Given the description of an element on the screen output the (x, y) to click on. 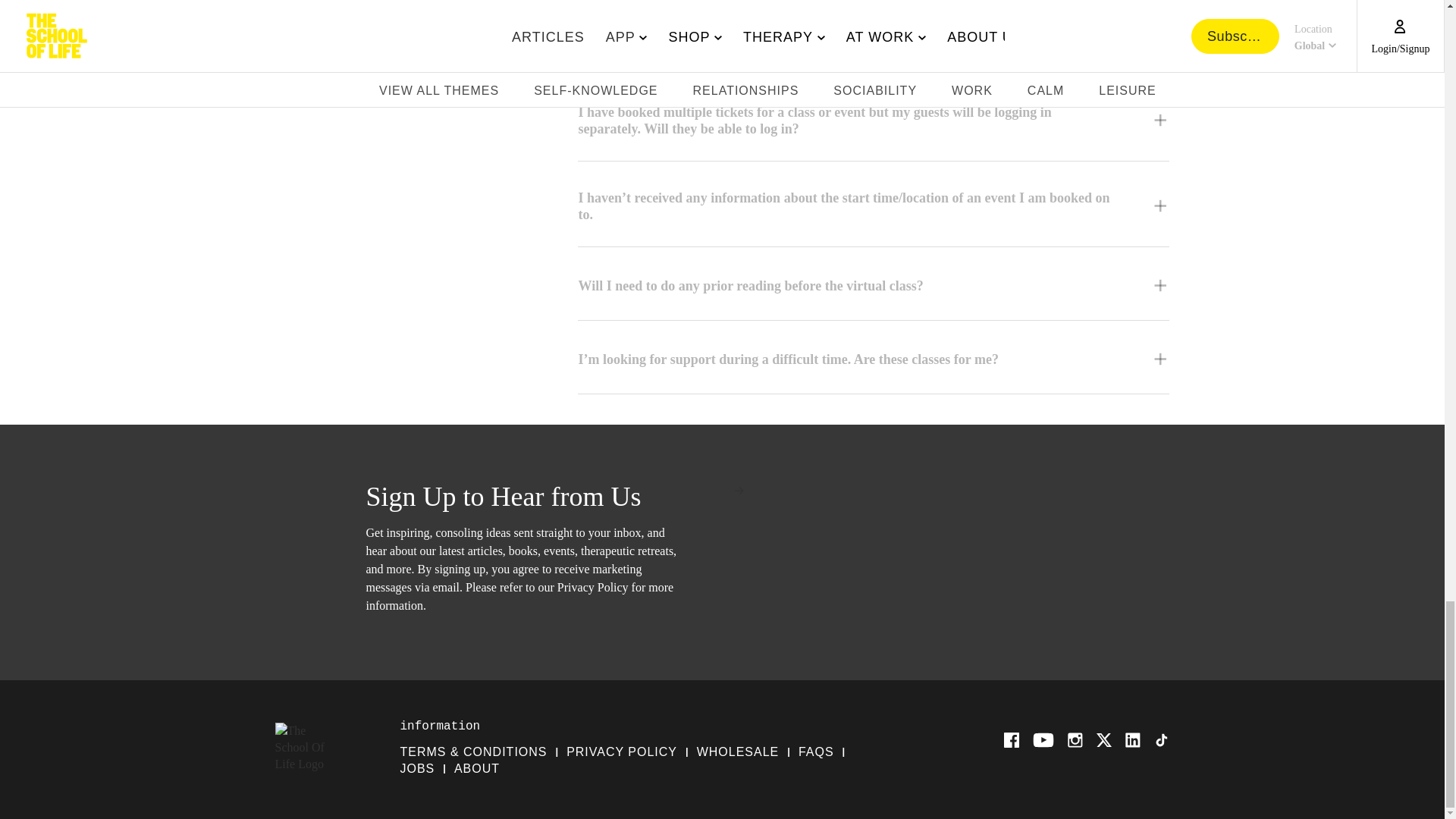
Subscribe us on YouTube (1043, 739)
Follow us on Facebook (1011, 739)
Follow us on TikTok (1161, 739)
Follow us on X (1104, 739)
Follow us on LinkedIn (1132, 739)
Follow us on Instagram (1075, 739)
